Given the description of an element on the screen output the (x, y) to click on. 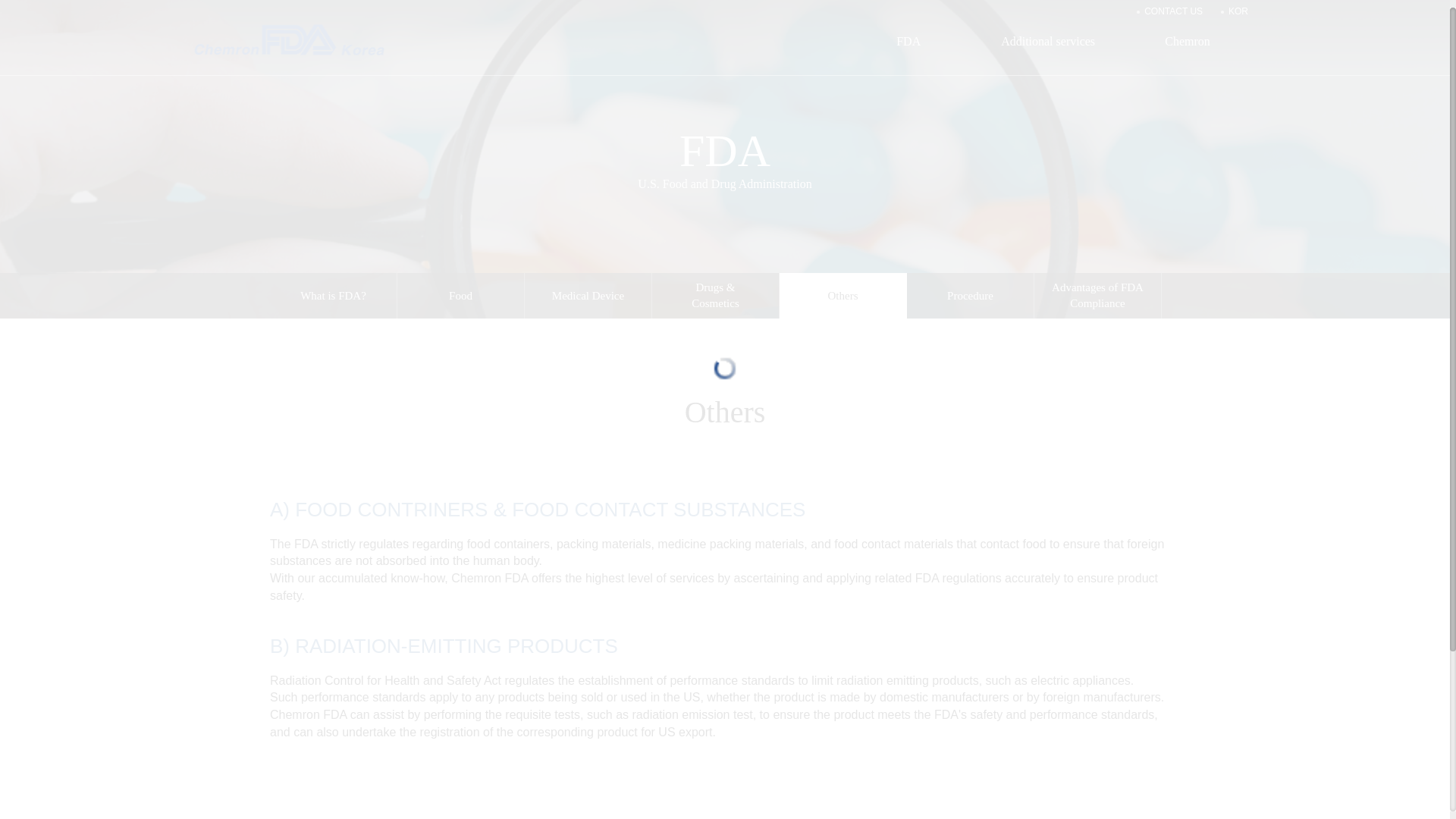
Food (460, 295)
KOR (1238, 11)
Chemron FDA KOREA (288, 37)
Chemron (1187, 48)
Medical Device (587, 295)
Others (841, 295)
What is FDA? (332, 295)
CONTACT US (1173, 11)
Procedure (970, 295)
FDA (908, 48)
